Given the description of an element on the screen output the (x, y) to click on. 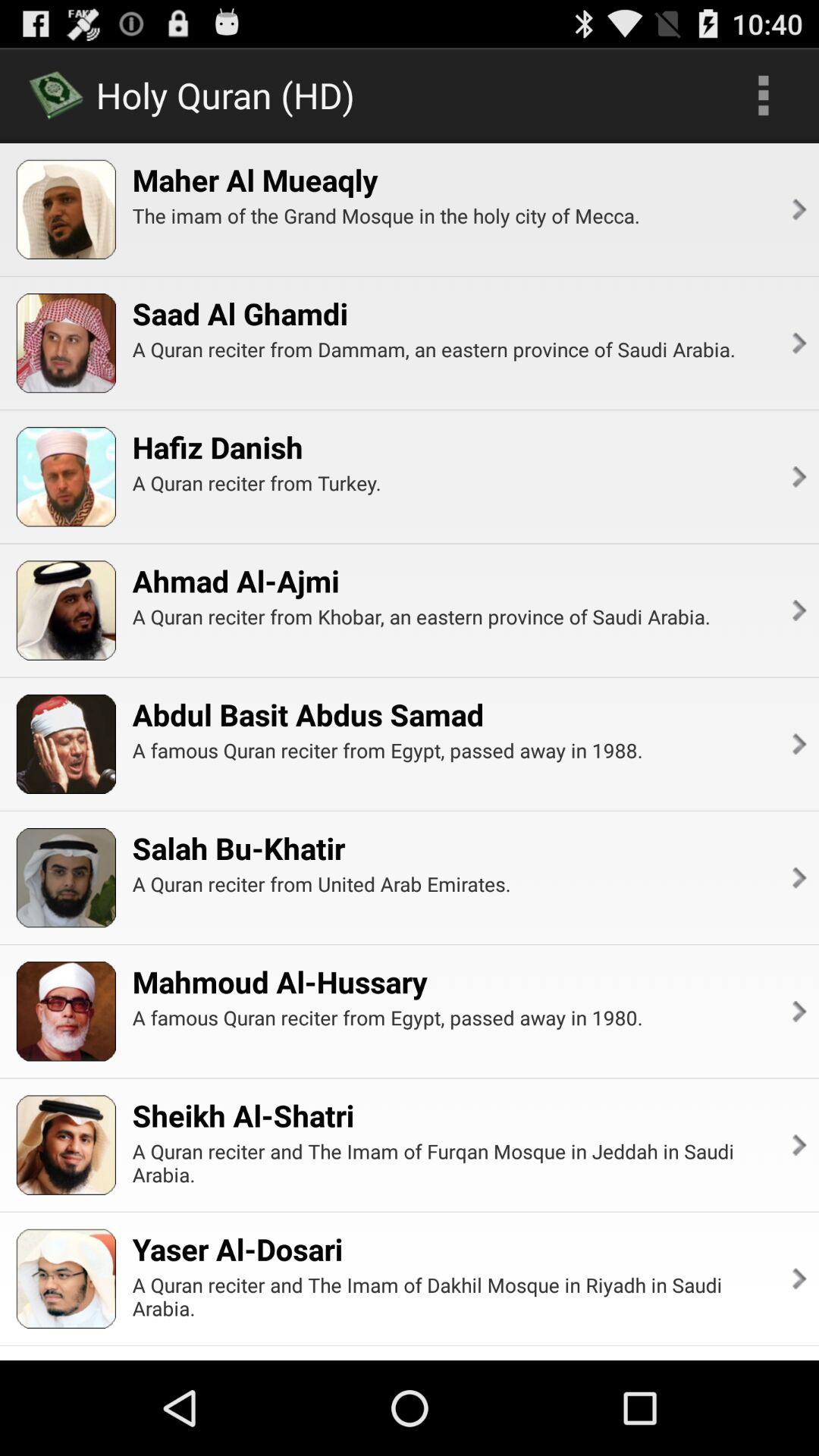
click the app next to the a quran reciter item (797, 476)
